Given the description of an element on the screen output the (x, y) to click on. 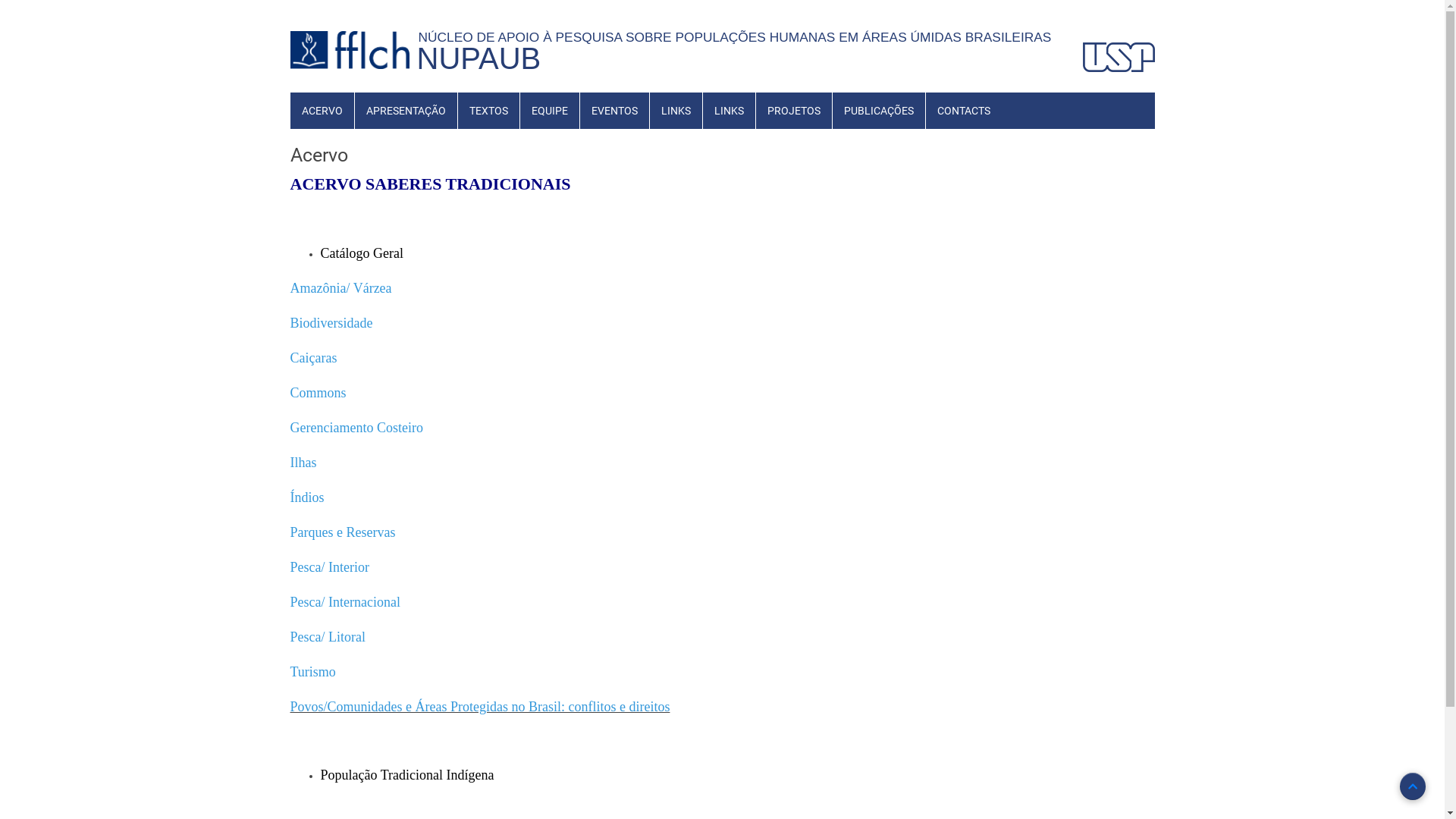
Commons Element type: text (317, 393)
TEXTOS Element type: text (488, 110)
EQUIPE Element type: text (549, 110)
NUPAUB Element type: text (479, 58)
Gerenciamento Costeiro Element type: text (355, 428)
Biodiversidade Element type: text (330, 323)
Parques e Reservas Element type: text (342, 533)
ACERVO Element type: text (321, 110)
Pesca/ Interior Element type: text (328, 568)
PROJETOS Element type: text (793, 110)
Ilhas Element type: text (302, 463)
Turismo Element type: text (312, 671)
Pesca/ Internacional Element type: text (344, 602)
Back to Top Element type: hover (1412, 786)
LINKS Element type: text (675, 110)
CONTACTS Element type: text (963, 110)
EVENTOS Element type: text (613, 110)
LINKS Element type: text (728, 110)
Pesca/ Litoral Element type: text (326, 637)
